Given the description of an element on the screen output the (x, y) to click on. 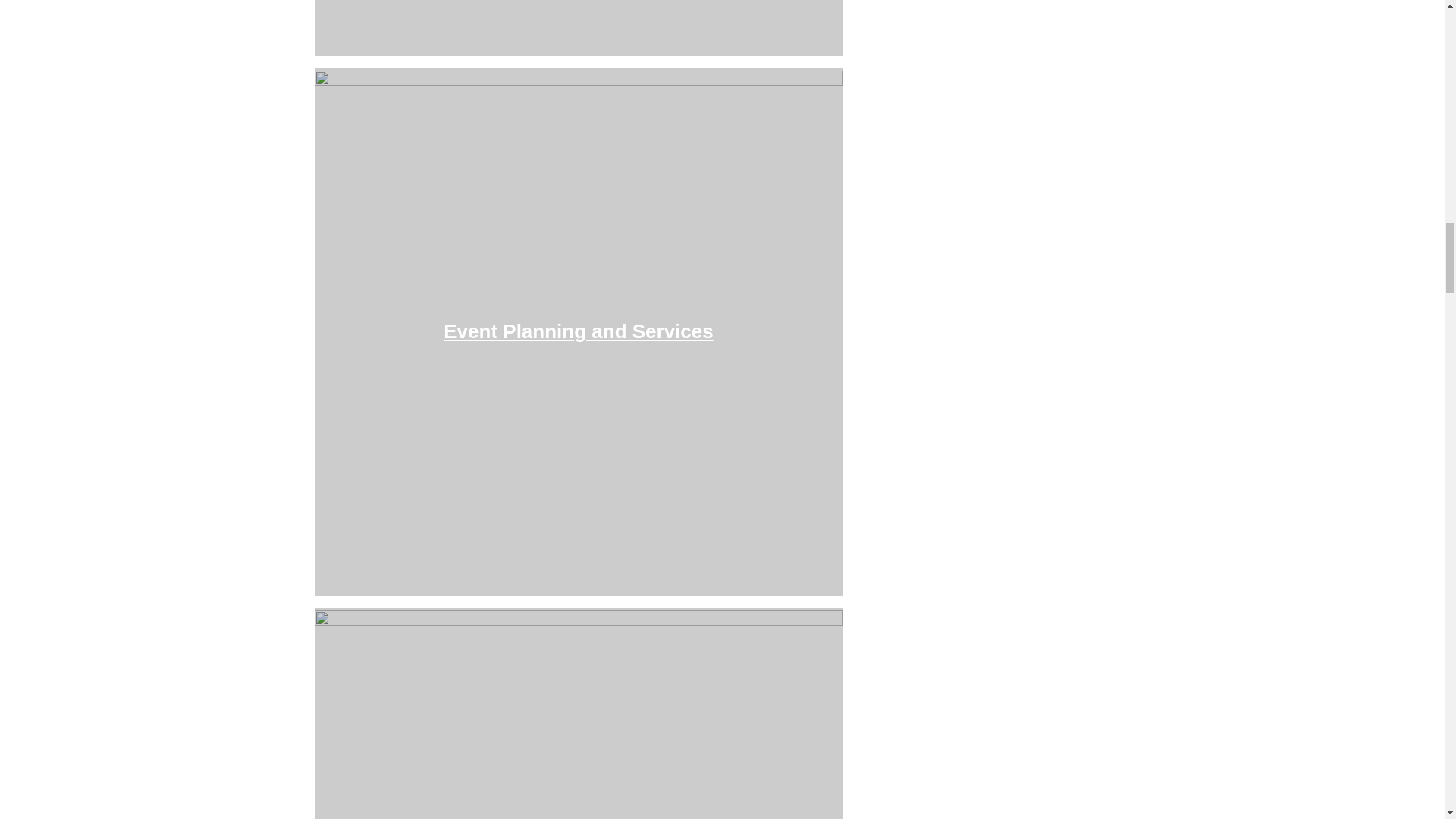
Event Planning and Services (578, 331)
party (577, 713)
